Given the description of an element on the screen output the (x, y) to click on. 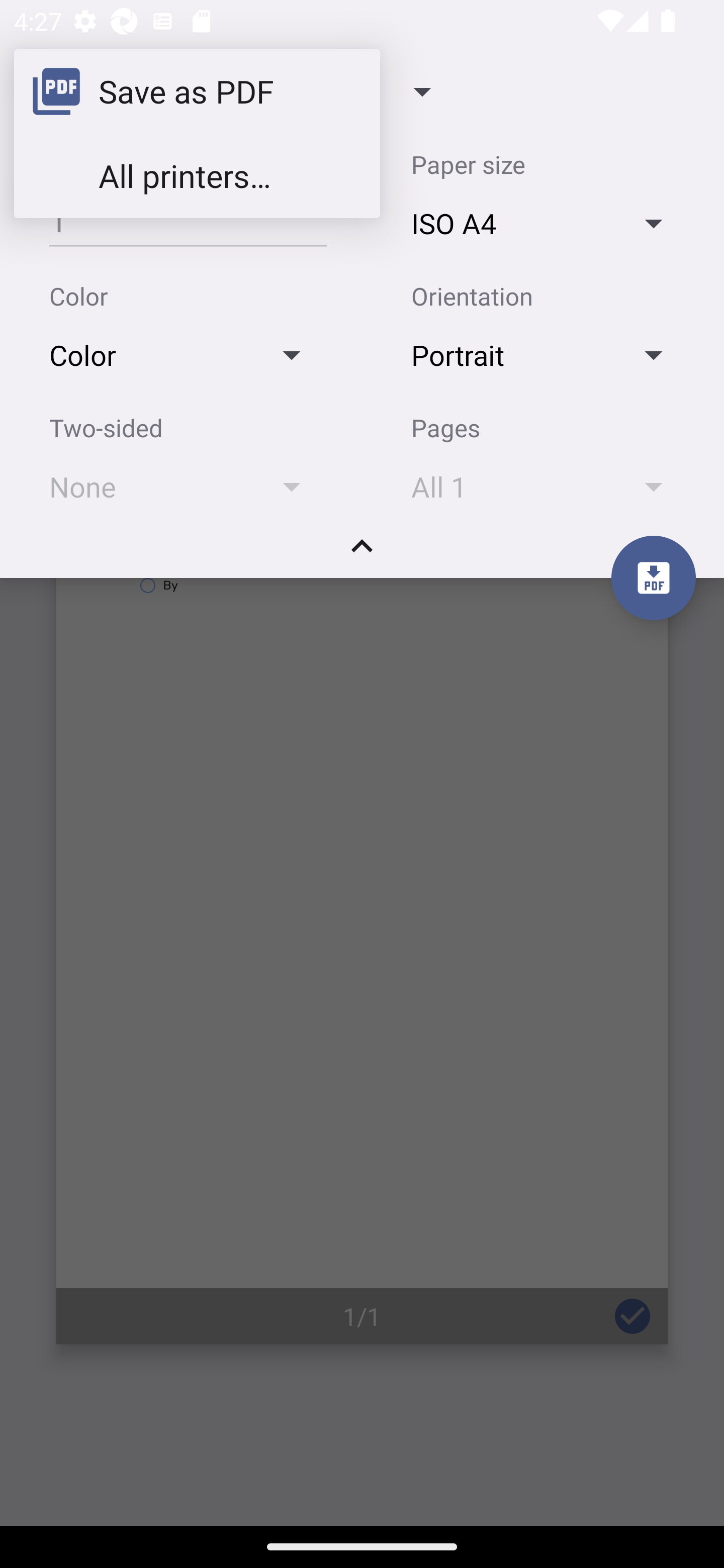
Save as PDF (196, 90)
All printers… (196, 175)
